Given the description of an element on the screen output the (x, y) to click on. 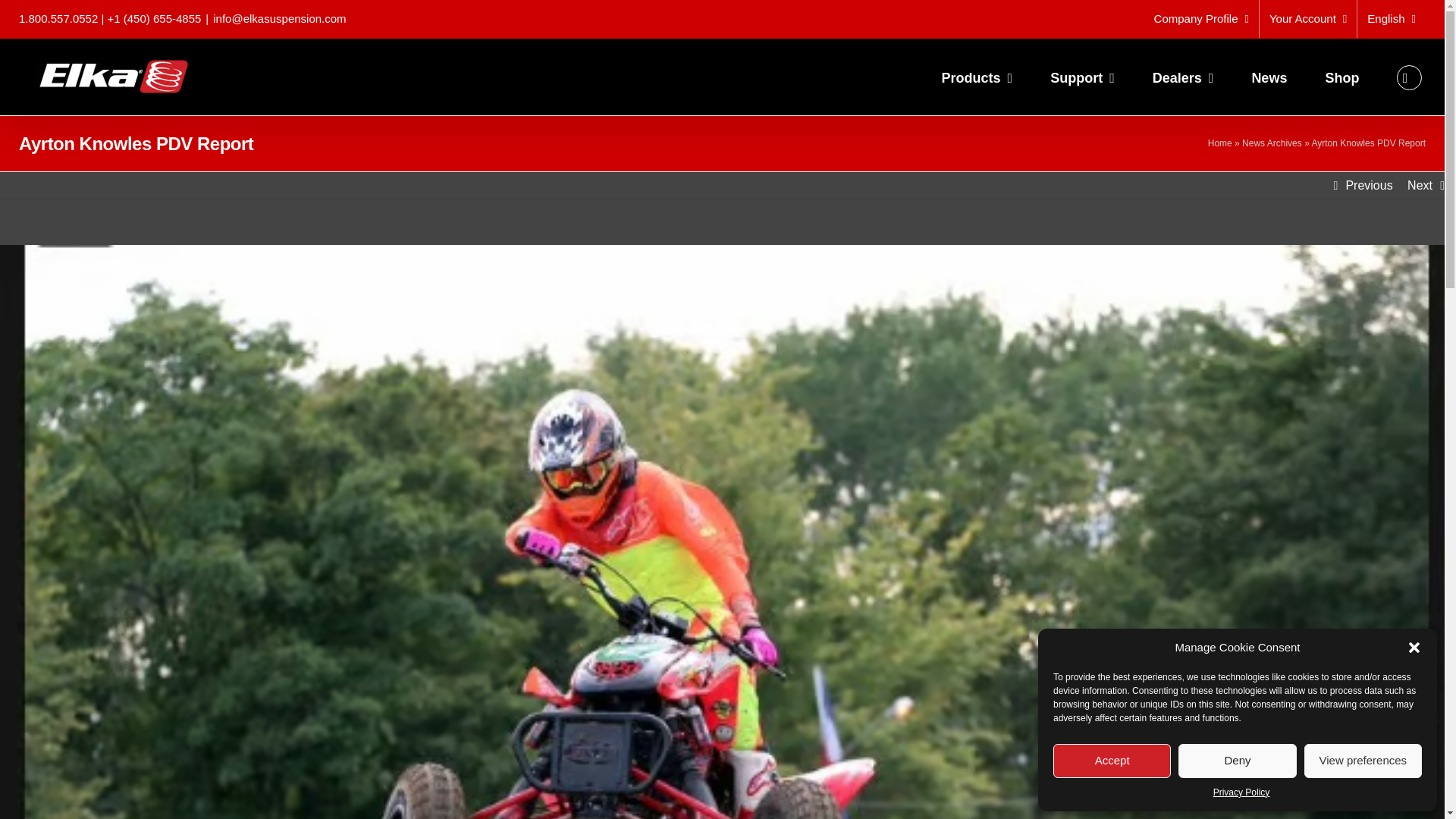
Your Account (1307, 18)
Privacy Policy (1240, 792)
Deny (1236, 760)
Accept (1111, 760)
View preferences (1363, 760)
Company Profile (1201, 18)
English (1390, 18)
English (1390, 18)
